Given the description of an element on the screen output the (x, y) to click on. 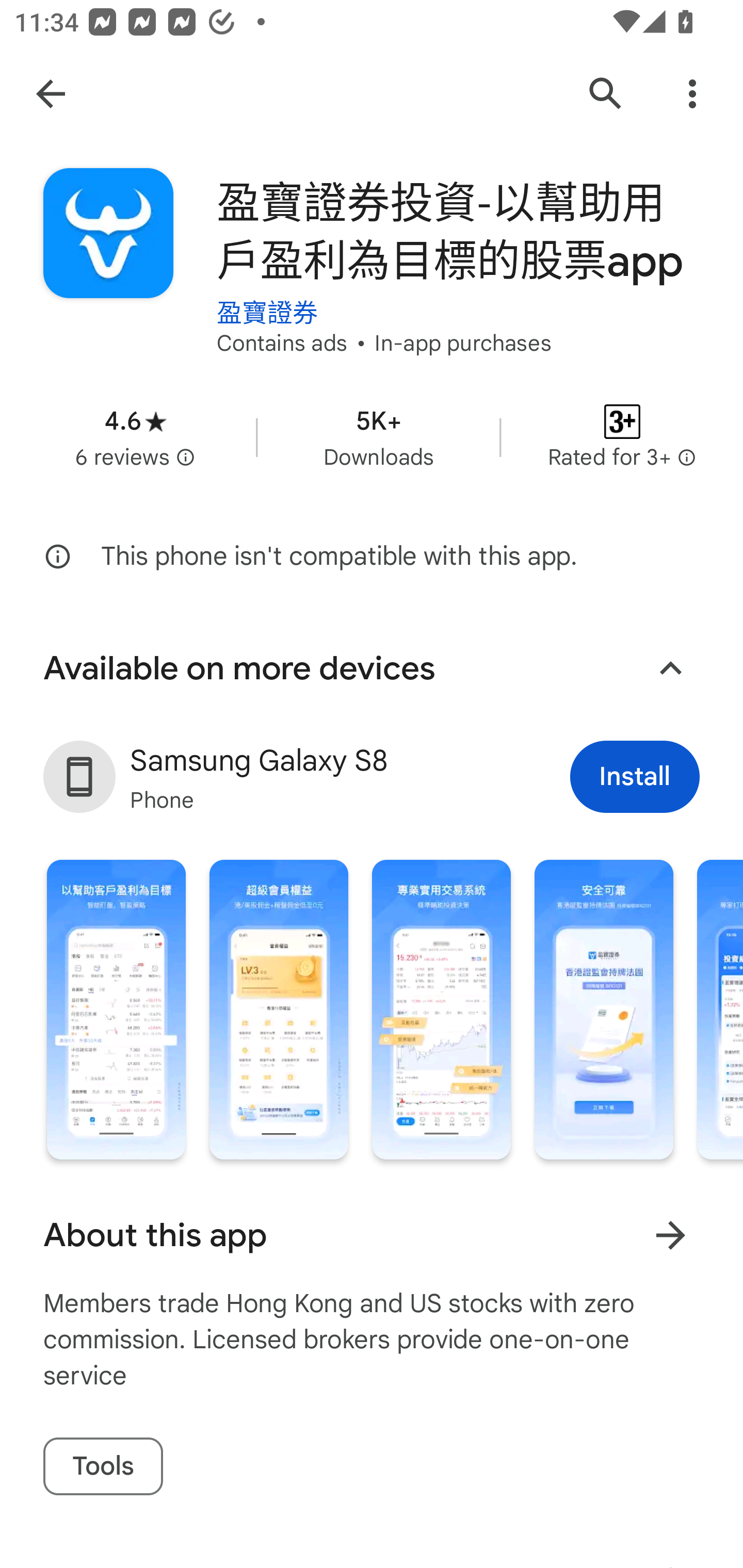
Navigate up (50, 93)
Search Google Play (605, 93)
More Options (692, 93)
盈寶證券 (267, 298)
Average rating 4.6 stars in 6 reviews (135, 437)
Content rating Rated for 3+ (622, 437)
Available on more devices Collapse (371, 668)
Collapse (670, 668)
Install (634, 776)
Screenshot "1" of "8" (115, 1008)
Screenshot "2" of "8" (278, 1008)
Screenshot "3" of "8" (441, 1008)
Screenshot "4" of "8" (603, 1008)
About this app Learn more About this app (371, 1235)
Learn more About this app (670, 1234)
Tools tag (102, 1466)
